Given the description of an element on the screen output the (x, y) to click on. 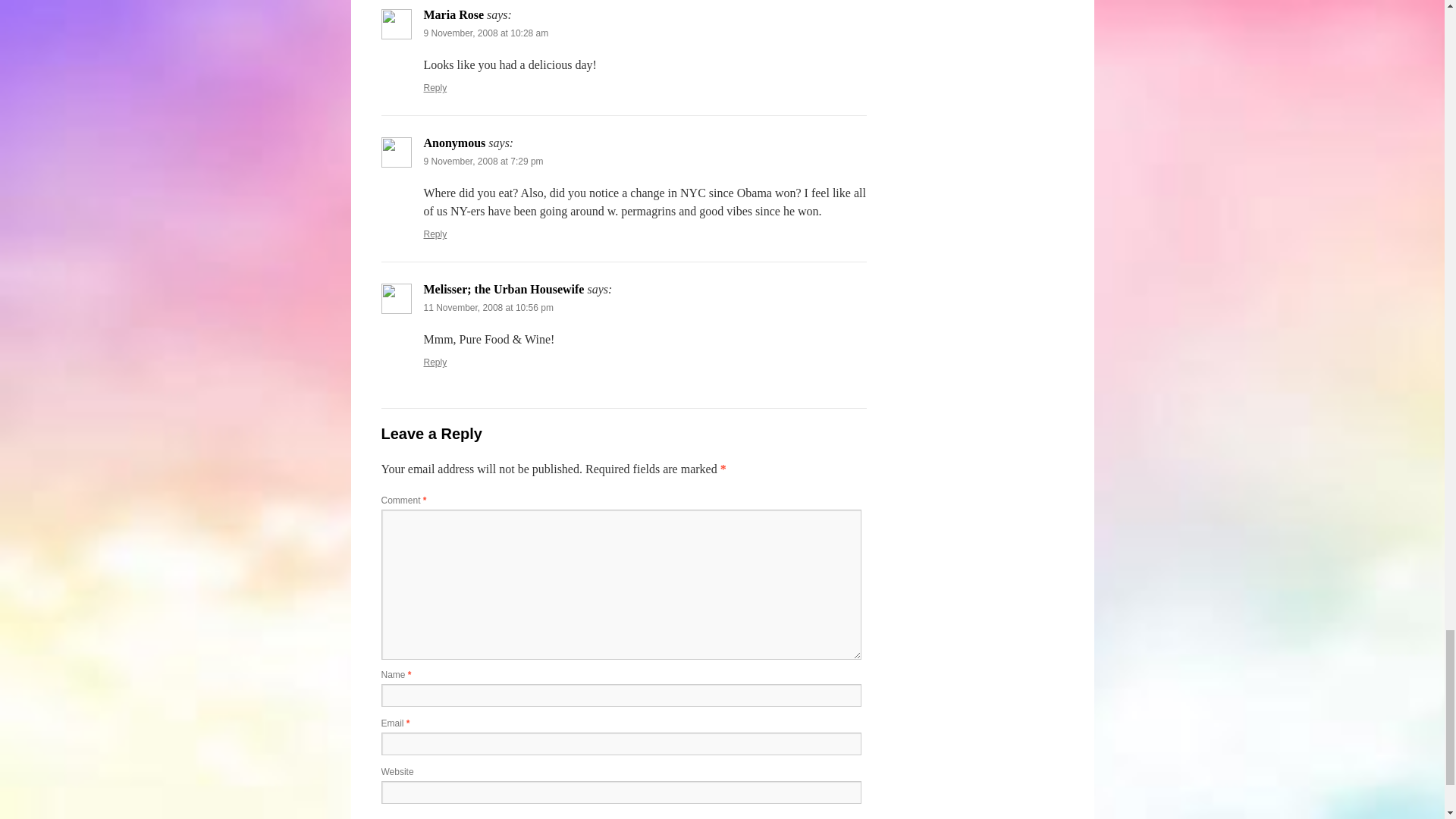
9 November, 2008 at 7:29 pm (483, 161)
9 November, 2008 at 10:28 am (485, 32)
11 November, 2008 at 10:56 pm (488, 307)
Reply (434, 234)
Reply (434, 87)
Reply (434, 362)
